Given the description of an element on the screen output the (x, y) to click on. 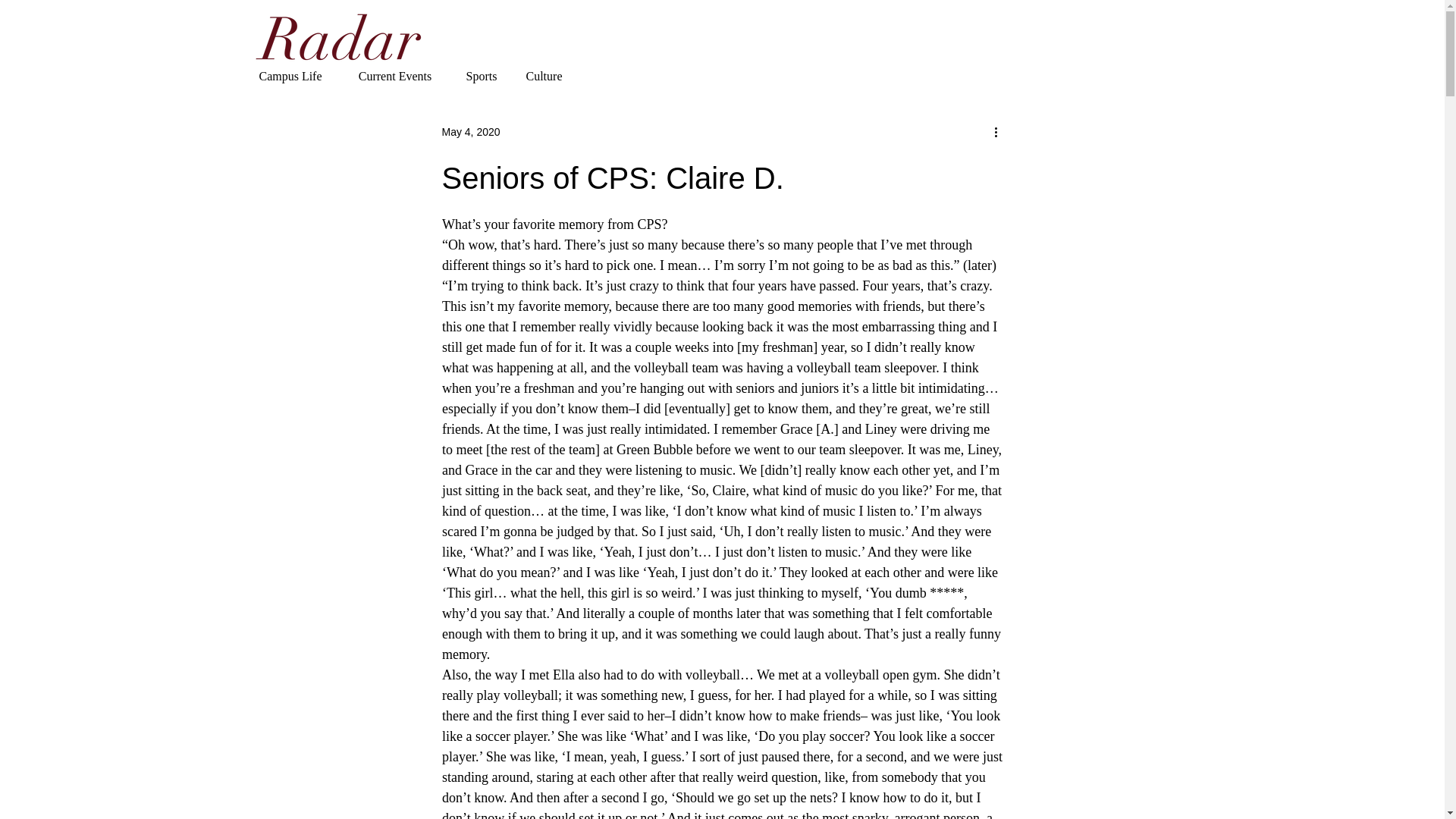
May 4, 2020 (470, 132)
Culture (543, 76)
Campus Life (291, 76)
Sports (481, 76)
Current Events (394, 76)
